Given the description of an element on the screen output the (x, y) to click on. 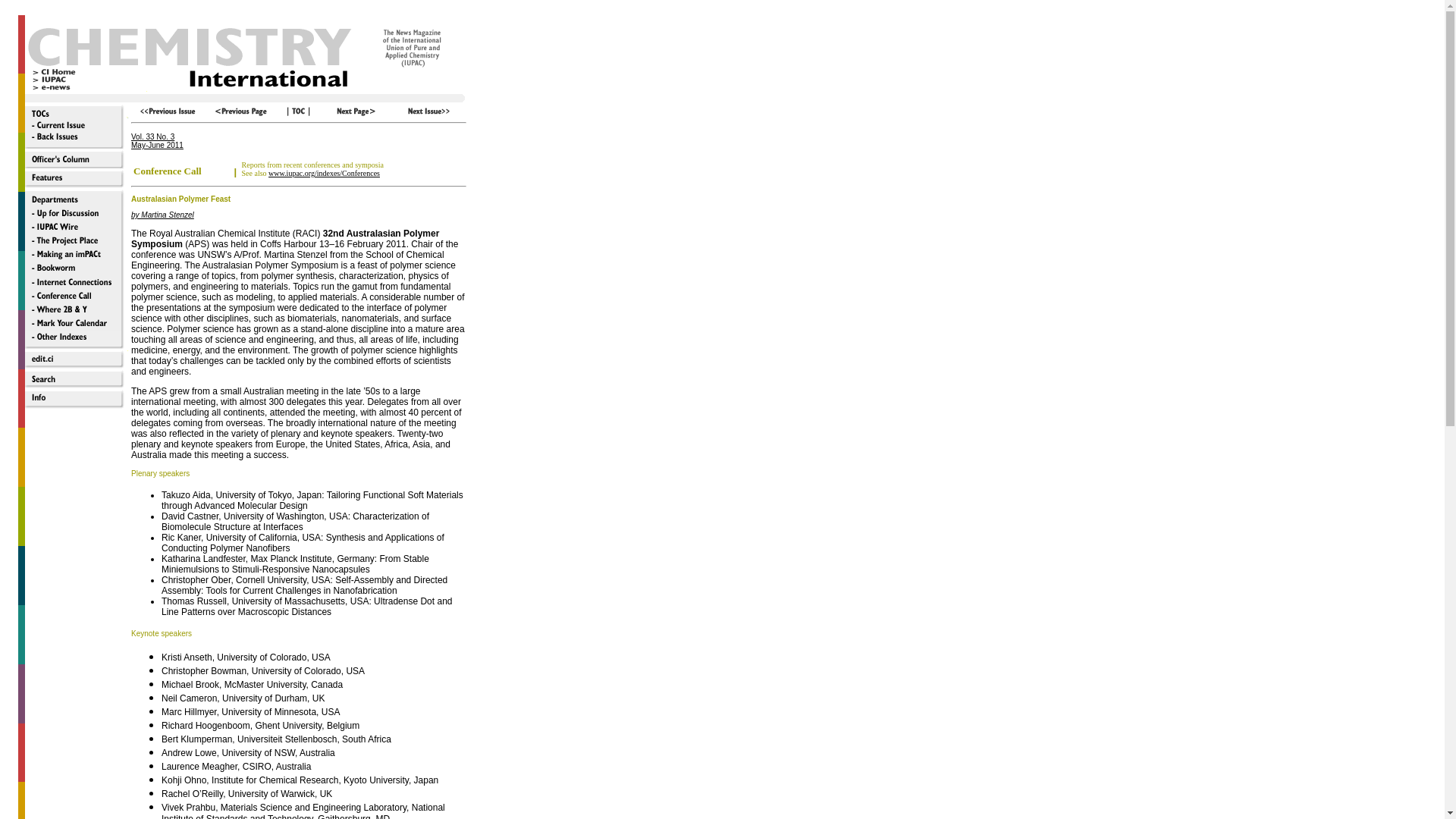
by Martina Stenzel (162, 214)
